Given the description of an element on the screen output the (x, y) to click on. 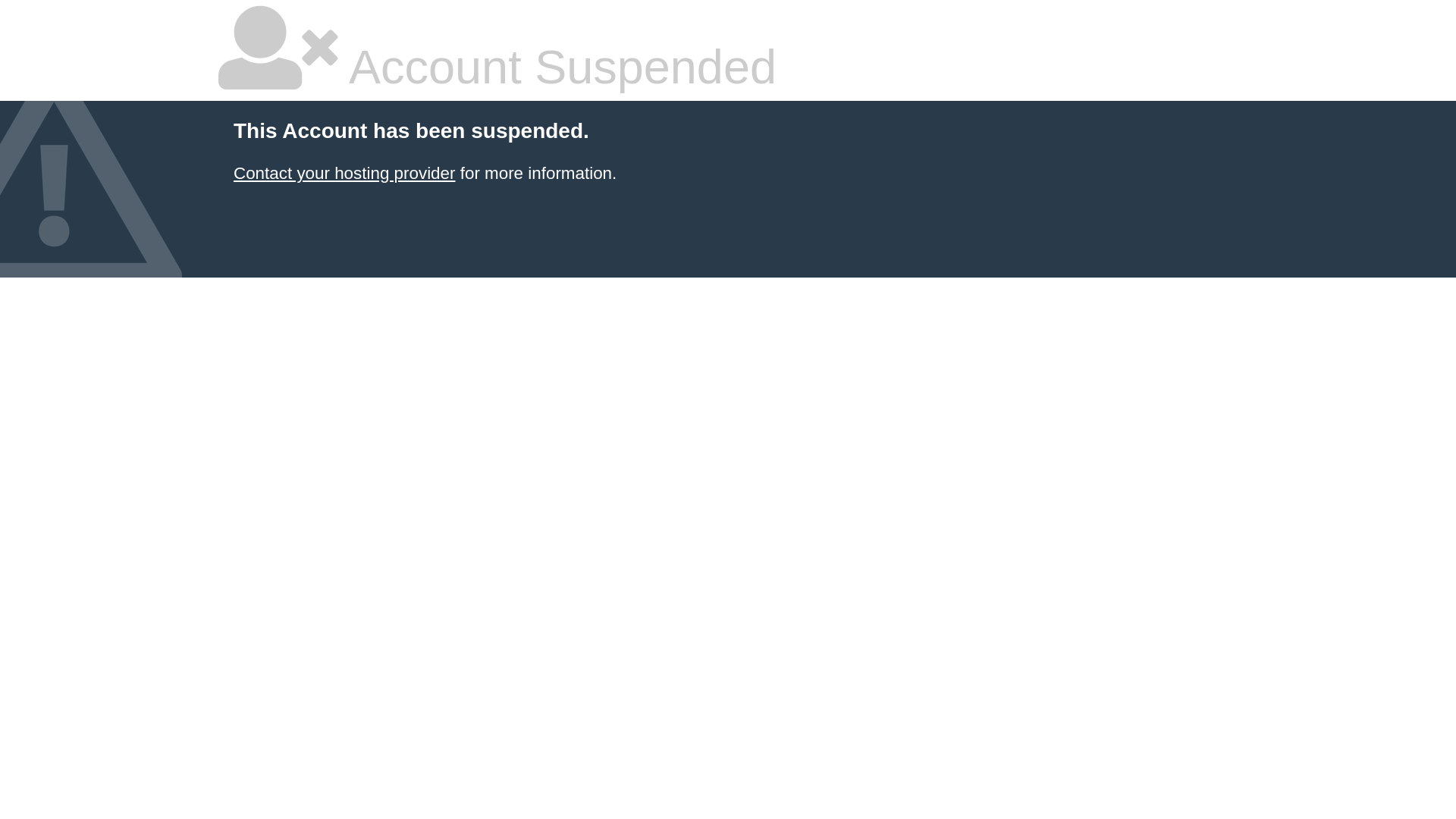
Contact your hosting provider Element type: text (344, 172)
